Given the description of an element on the screen output the (x, y) to click on. 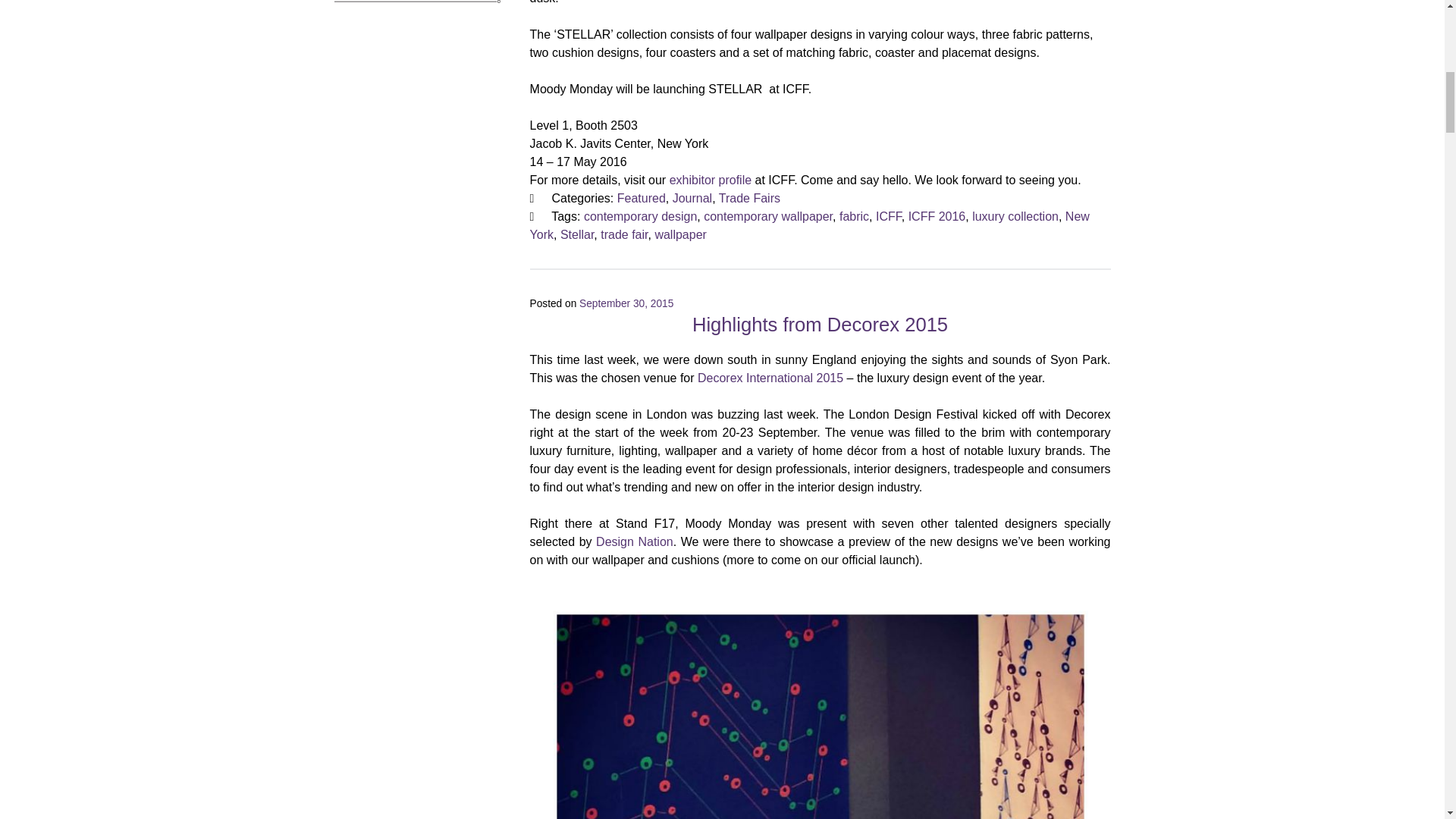
contemporary wallpaper (767, 215)
contemporary design (640, 215)
Journal (691, 197)
exhibitor profile (710, 179)
Featured (641, 197)
Trade Fairs (749, 197)
